Given the description of an element on the screen output the (x, y) to click on. 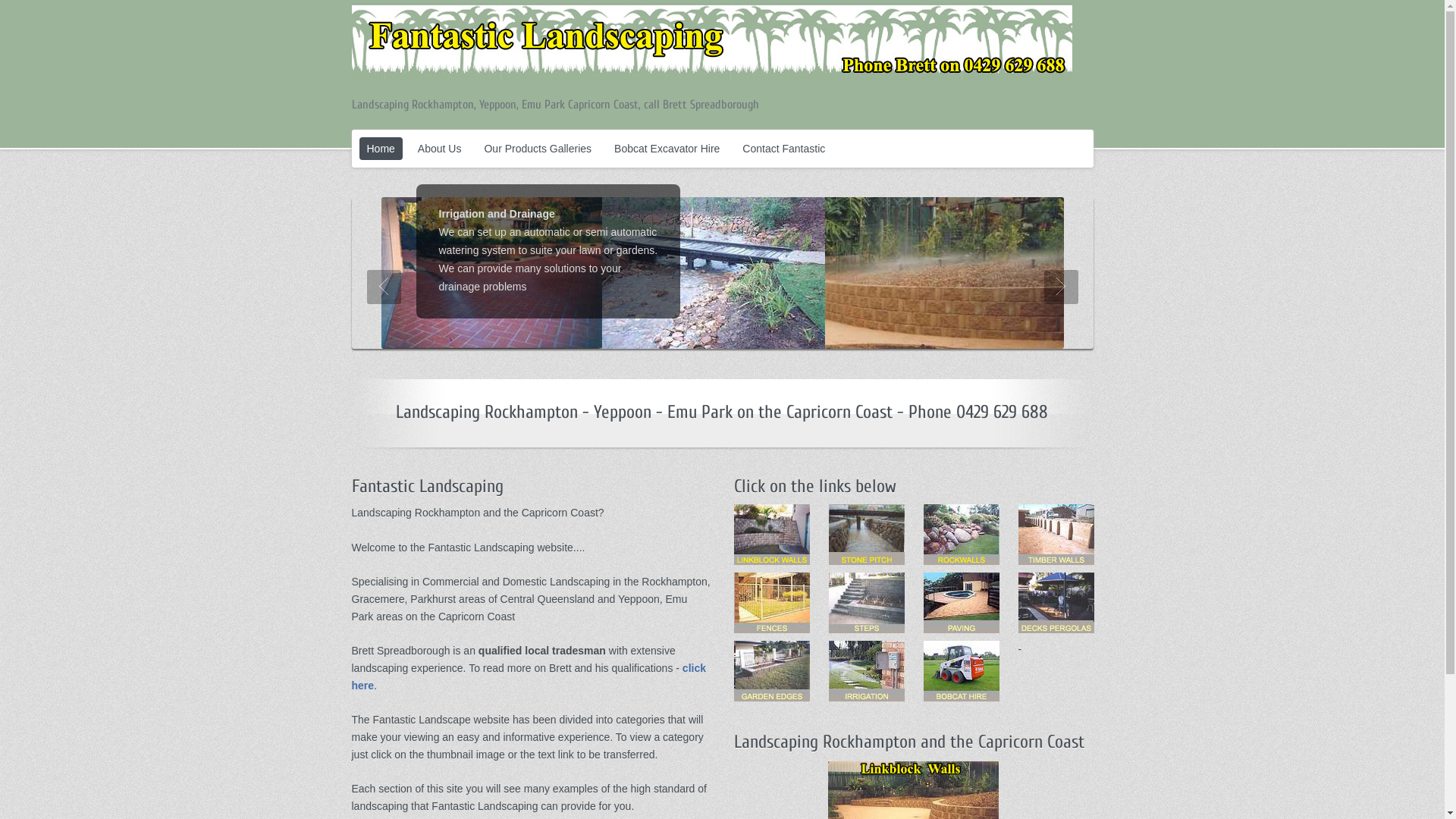
click here Element type: text (528, 676)
About Us Element type: text (439, 148)
Home Element type: text (380, 148)
Contact Fantastic Element type: text (783, 148)
Skip to primary content Element type: text (367, 131)
Our Products Galleries Element type: text (537, 148)
Bobcat Excavator Hire Element type: text (666, 148)
